Given the description of an element on the screen output the (x, y) to click on. 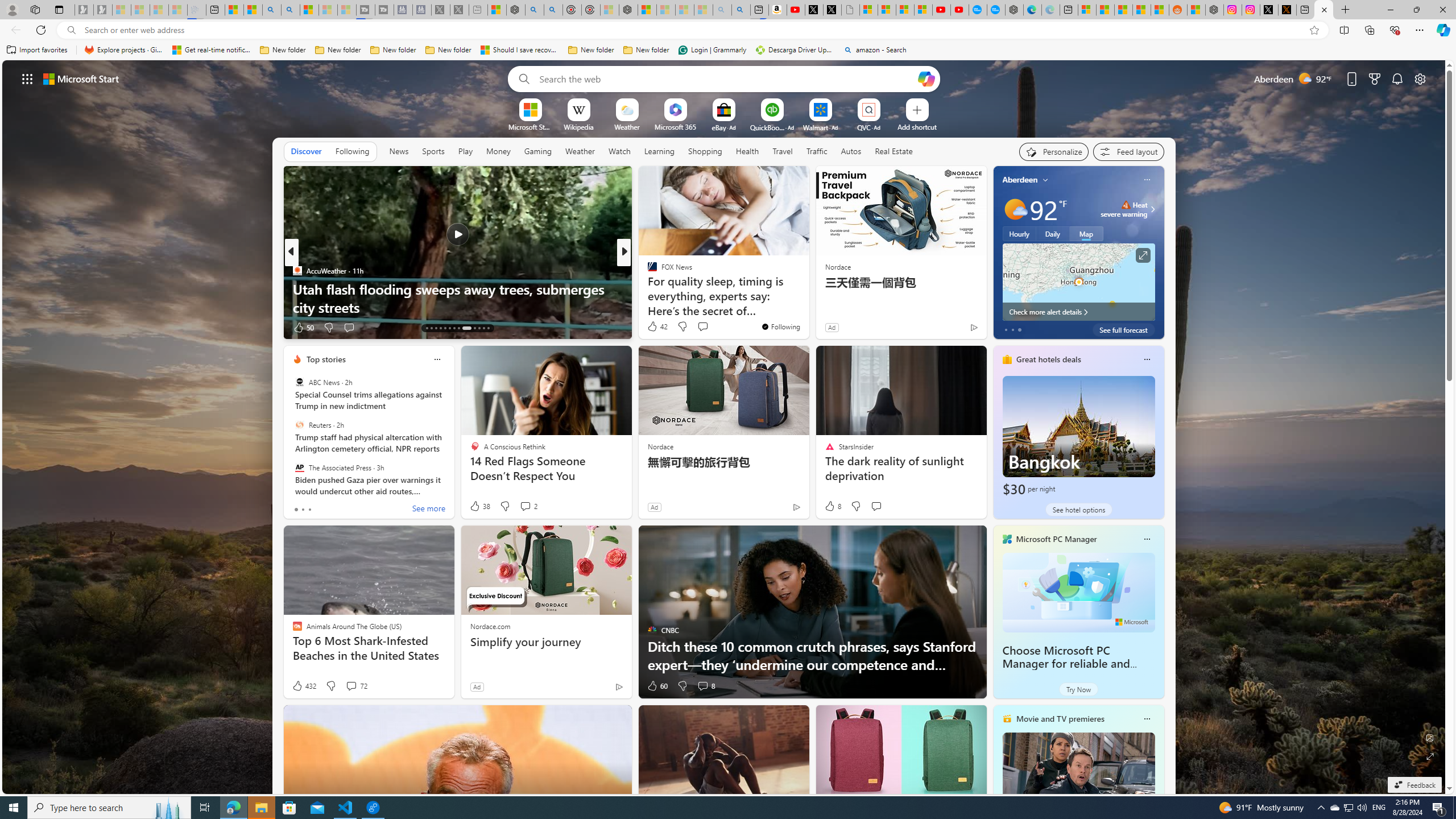
8 Like (831, 505)
Play (465, 151)
News (398, 151)
The Daily Beast (647, 270)
Heat - Severe Heat severe warning (1123, 208)
X - Sleeping (459, 9)
Sports (432, 151)
AutomationID: tab-15 (435, 328)
Microsoft start (81, 78)
Autos (851, 151)
ABC News (299, 382)
AutomationID: tab-16 (440, 328)
